Given the description of an element on the screen output the (x, y) to click on. 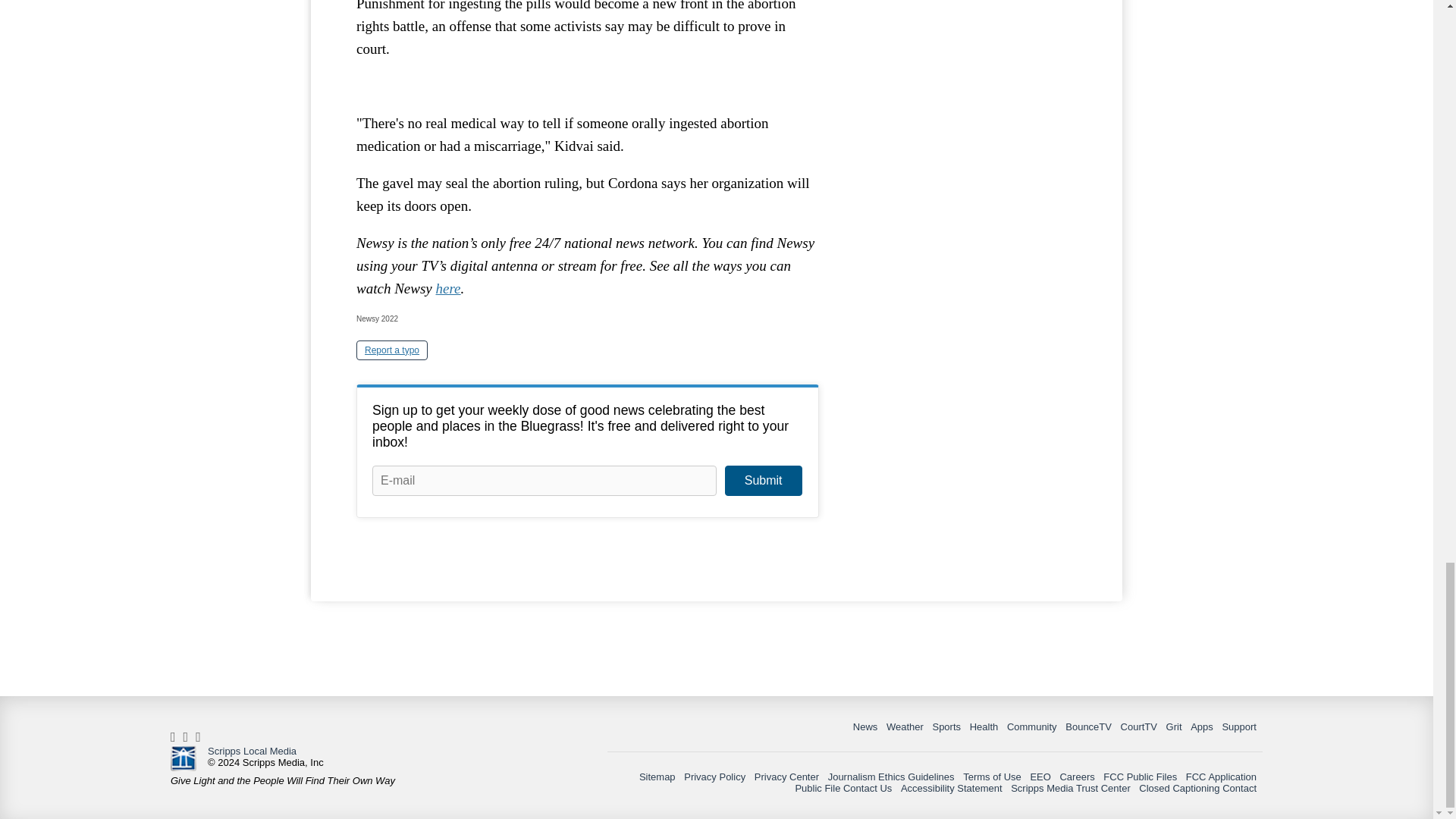
Submit (763, 481)
